Given the description of an element on the screen output the (x, y) to click on. 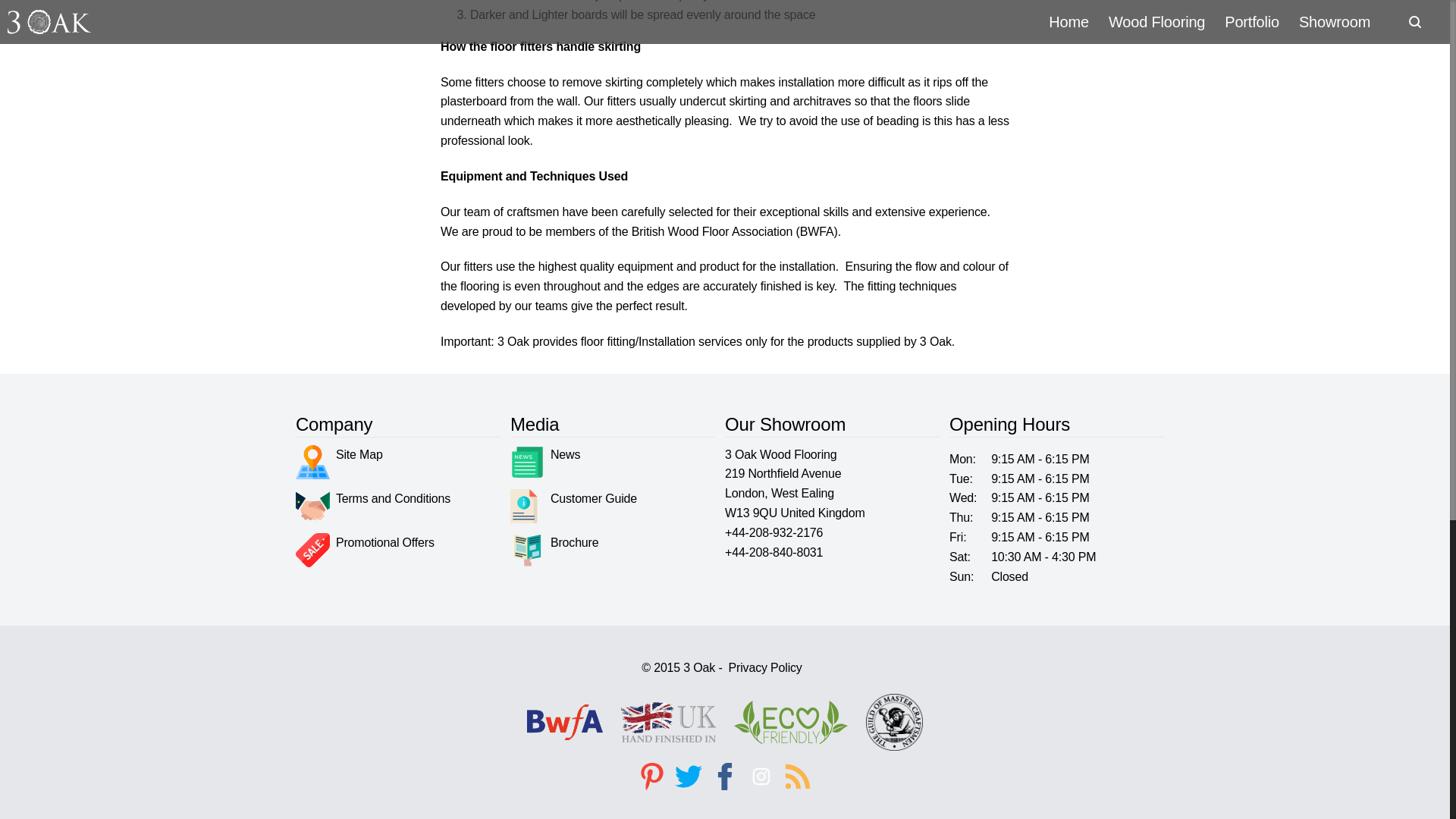
twitter (687, 776)
Promotional Offers (364, 550)
Brochure (554, 550)
pinterest (651, 776)
Site Map (338, 462)
Privacy Policy (765, 668)
Brochure (554, 550)
Privacy Policy (765, 668)
Customer Guide (574, 505)
Site Map (338, 462)
